Given the description of an element on the screen output the (x, y) to click on. 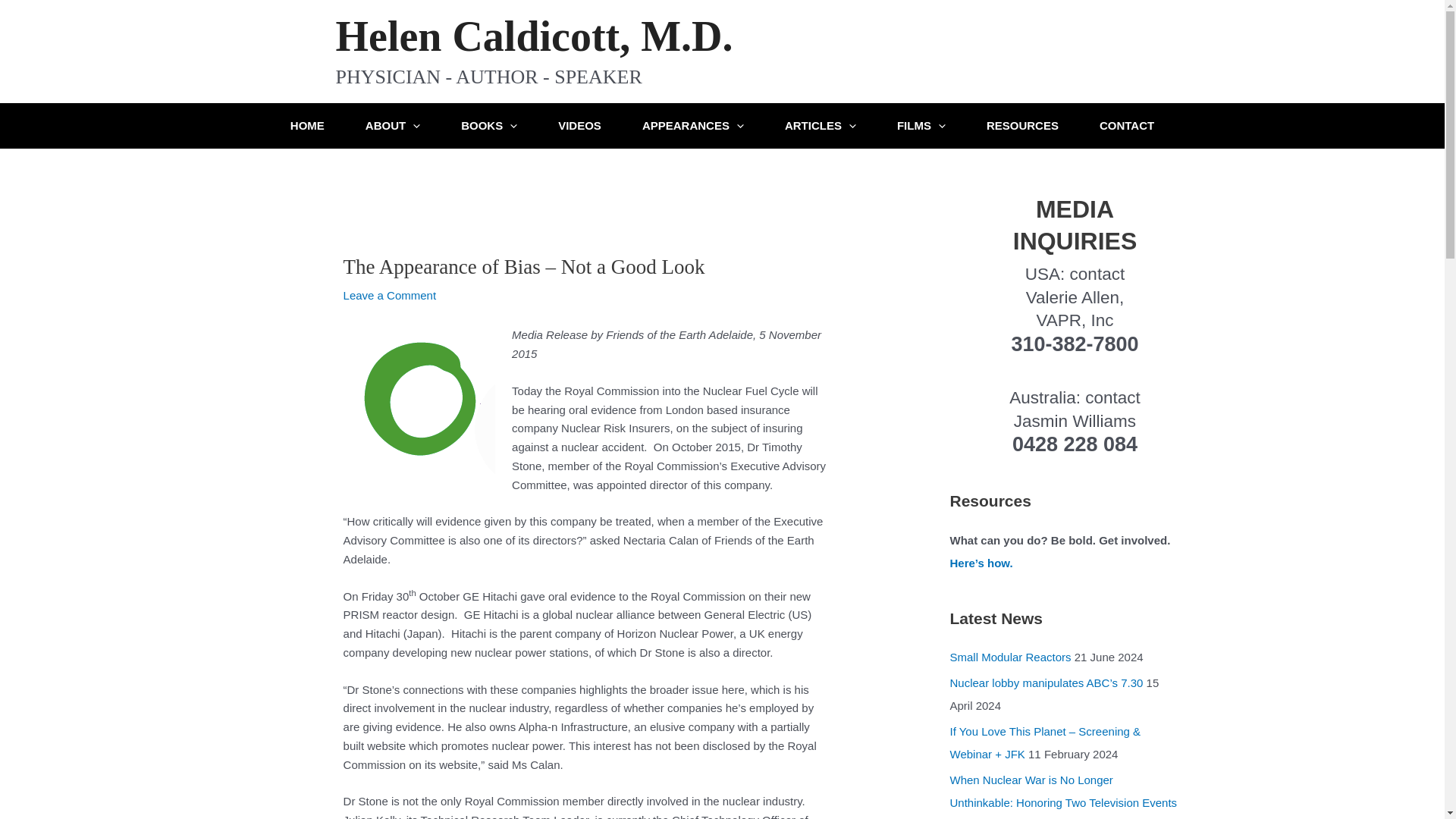
VIDEOS (579, 125)
Helen Caldicott, M.D. (533, 36)
HOME (307, 125)
ARTICLES (820, 125)
ABOUT (393, 125)
FILMS (921, 125)
APPEARANCES (692, 125)
BOOKS (489, 125)
